Given the description of an element on the screen output the (x, y) to click on. 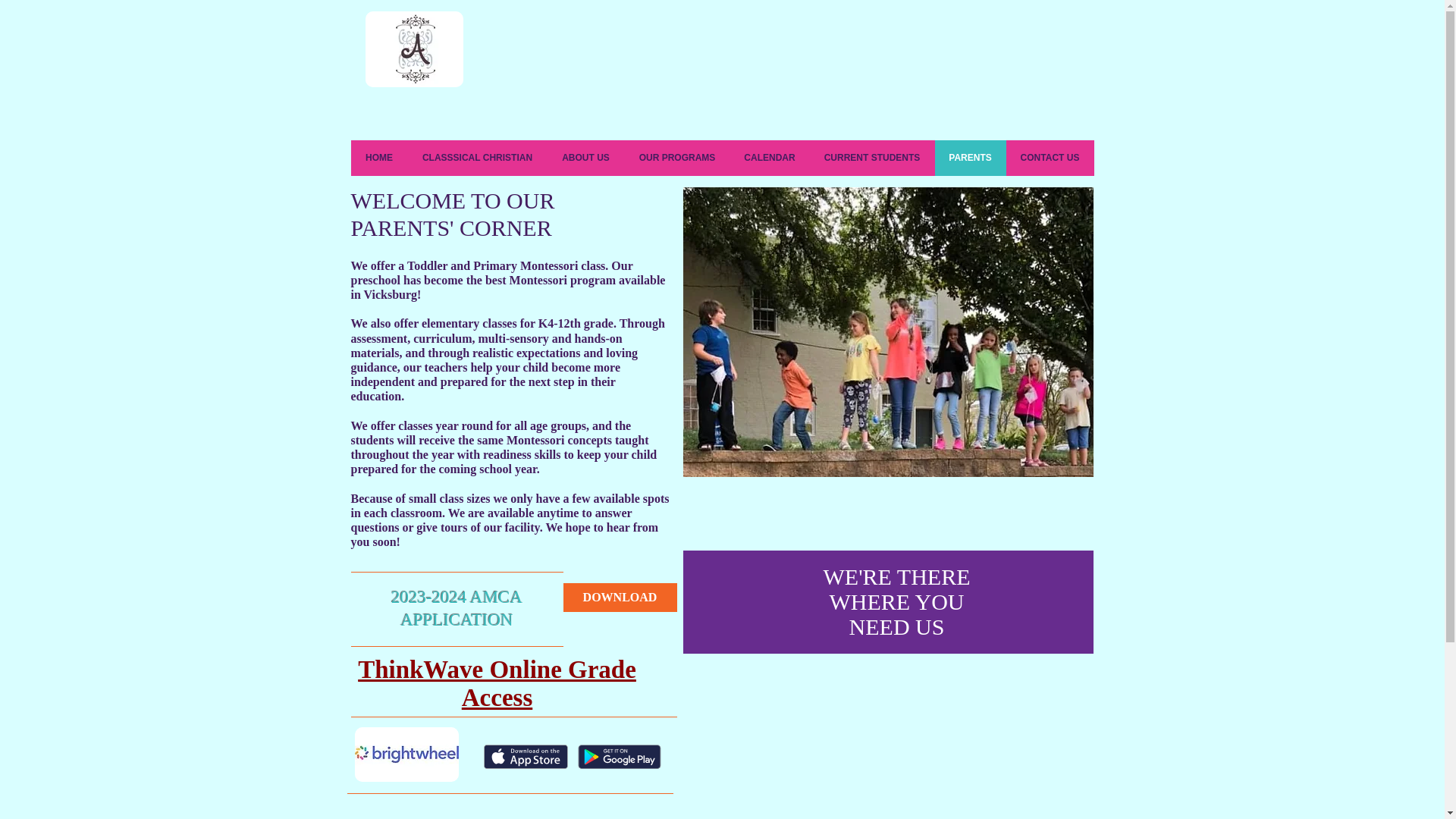
ABOUT US (585, 158)
CONTACT US (1049, 158)
OUR PROGRAMS (677, 158)
CLASSSICAL CHRISTIAN (477, 158)
CURRENT STUDENTS (871, 158)
PARENTS (970, 158)
HOME (378, 158)
ThinkWave Online Grade Access (497, 683)
Agape logo.jpg (414, 48)
CALENDAR (769, 158)
DOWNLOAD (619, 597)
